Given the description of an element on the screen output the (x, y) to click on. 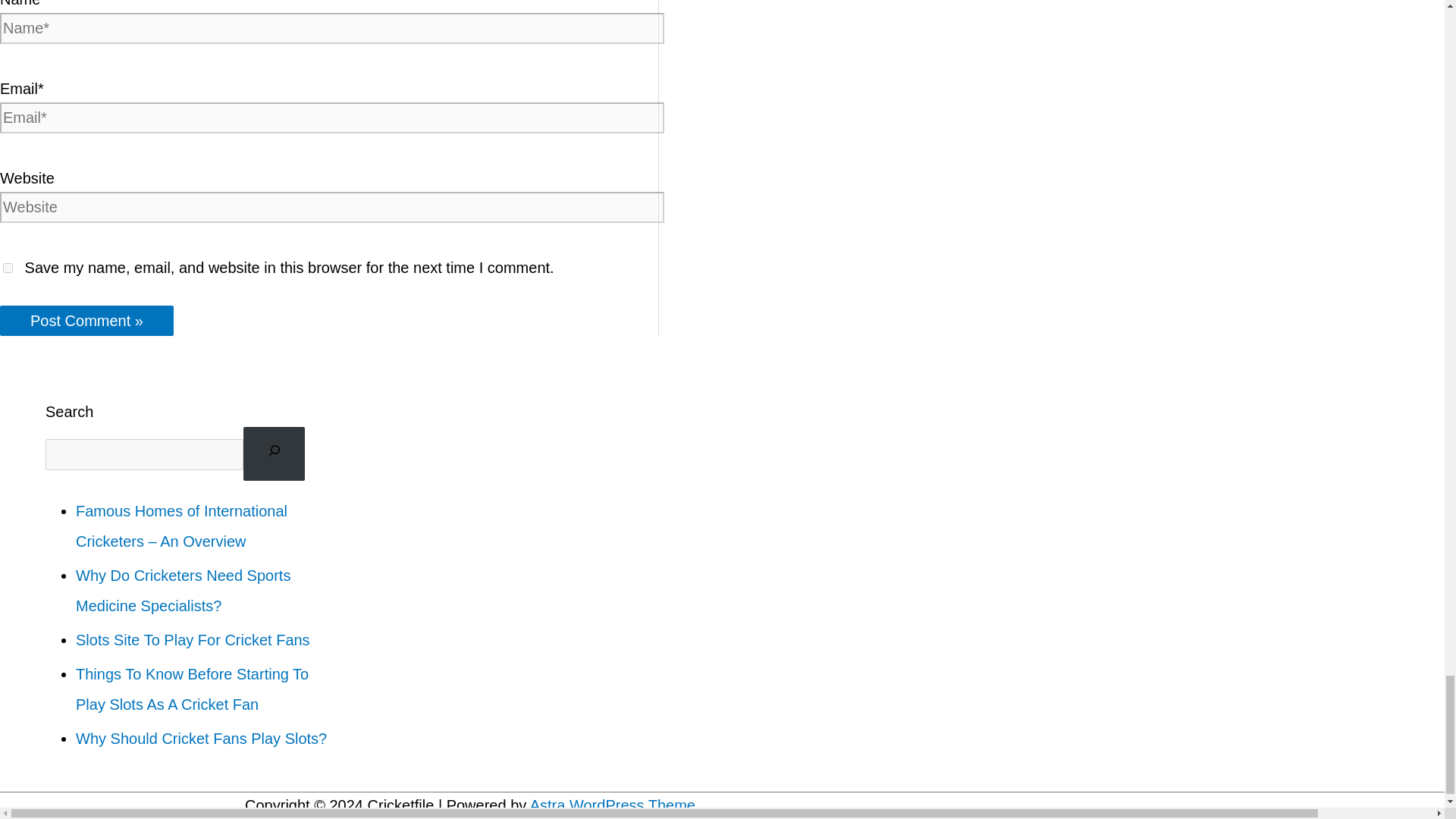
yes (7, 267)
